Given the description of an element on the screen output the (x, y) to click on. 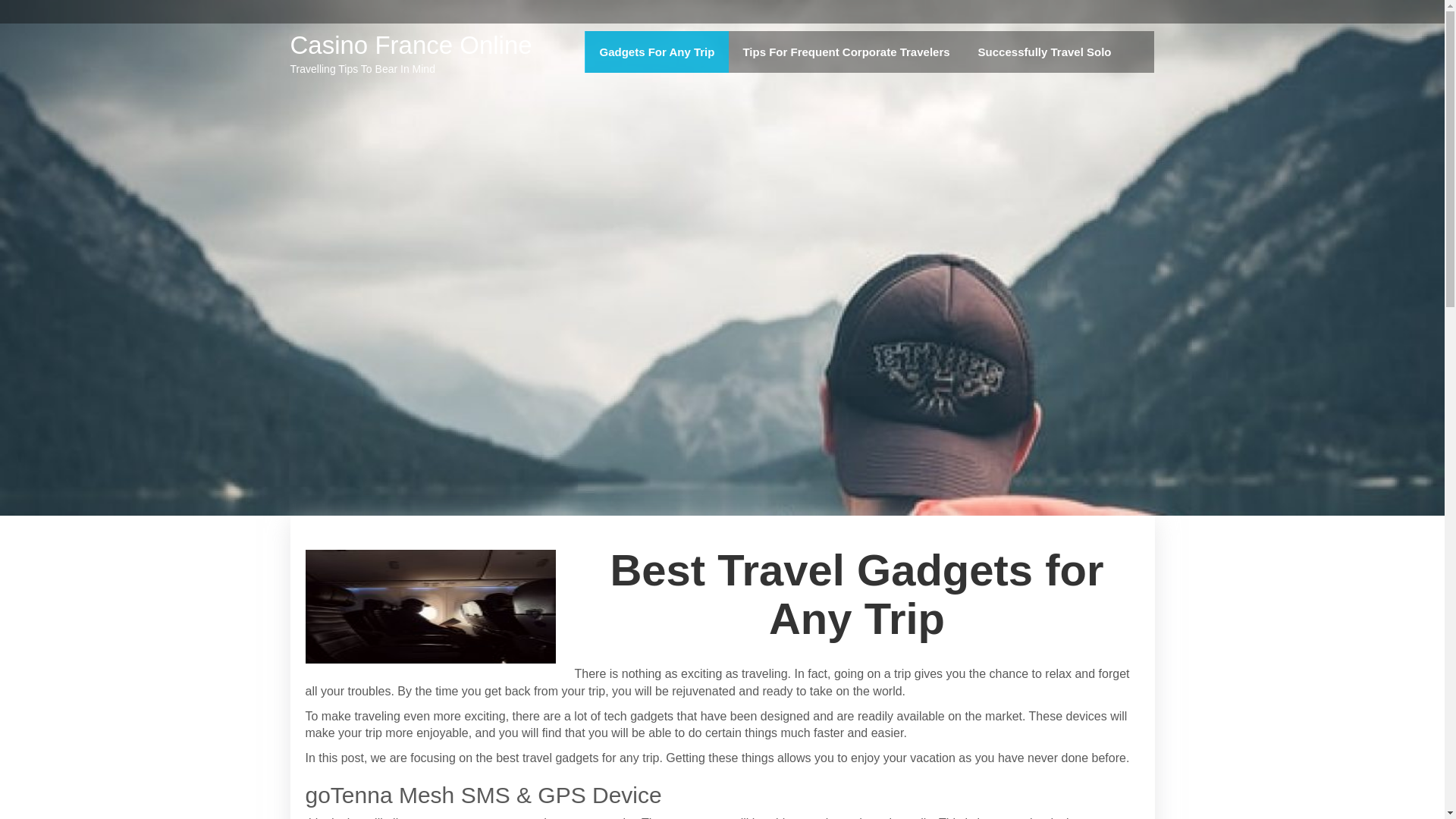
Successfully Travel Solo (1044, 51)
Tips For Frequent Corporate Travelers (845, 51)
Casino France Online (410, 44)
Gadgets For Any Trip (657, 51)
